Given the description of an element on the screen output the (x, y) to click on. 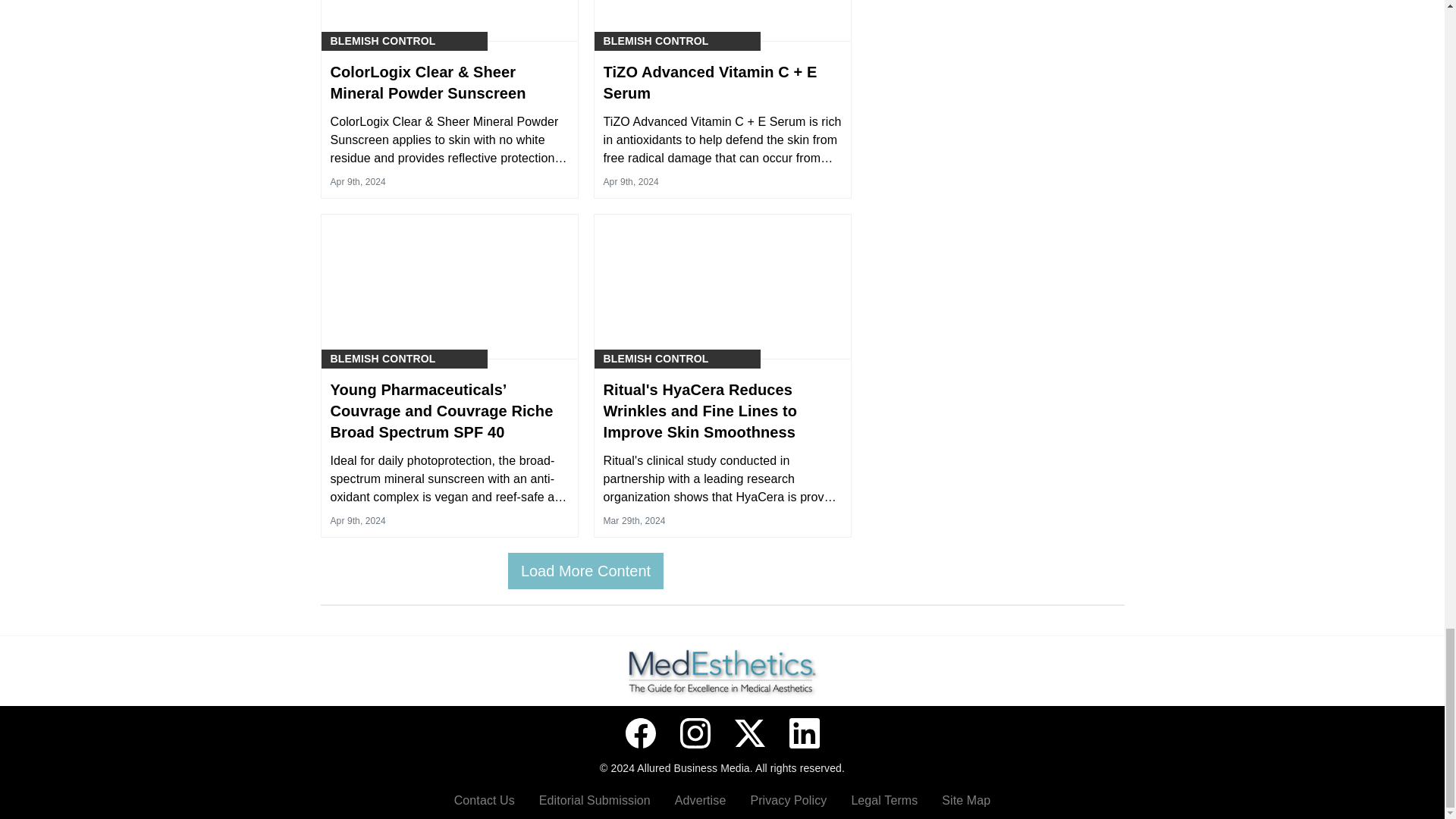
Instagram icon (694, 733)
Facebook icon (639, 733)
LinkedIn icon (803, 733)
Twitter X icon (748, 733)
